Given the description of an element on the screen output the (x, y) to click on. 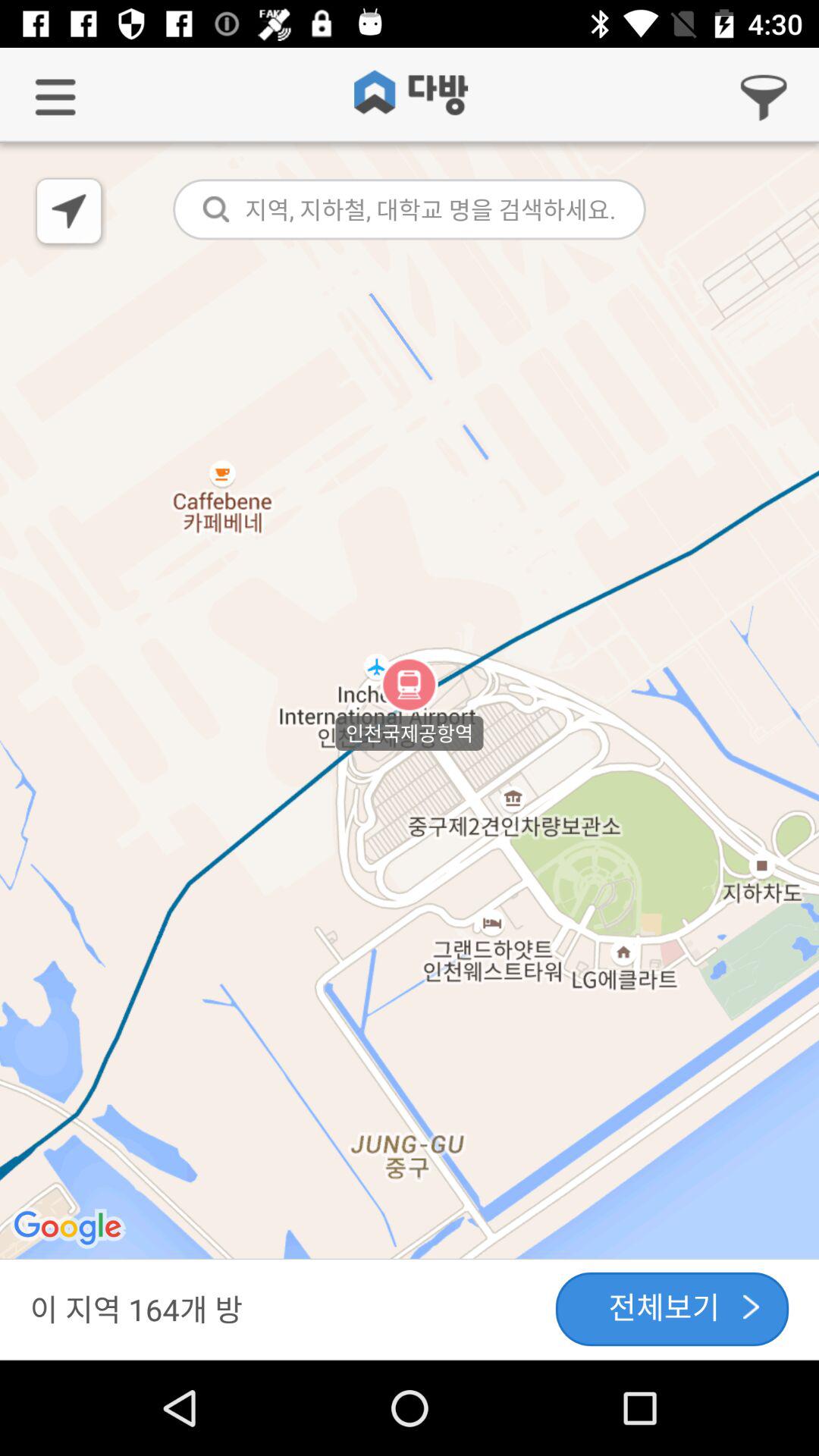
choose the icon at the center (409, 701)
